Given the description of an element on the screen output the (x, y) to click on. 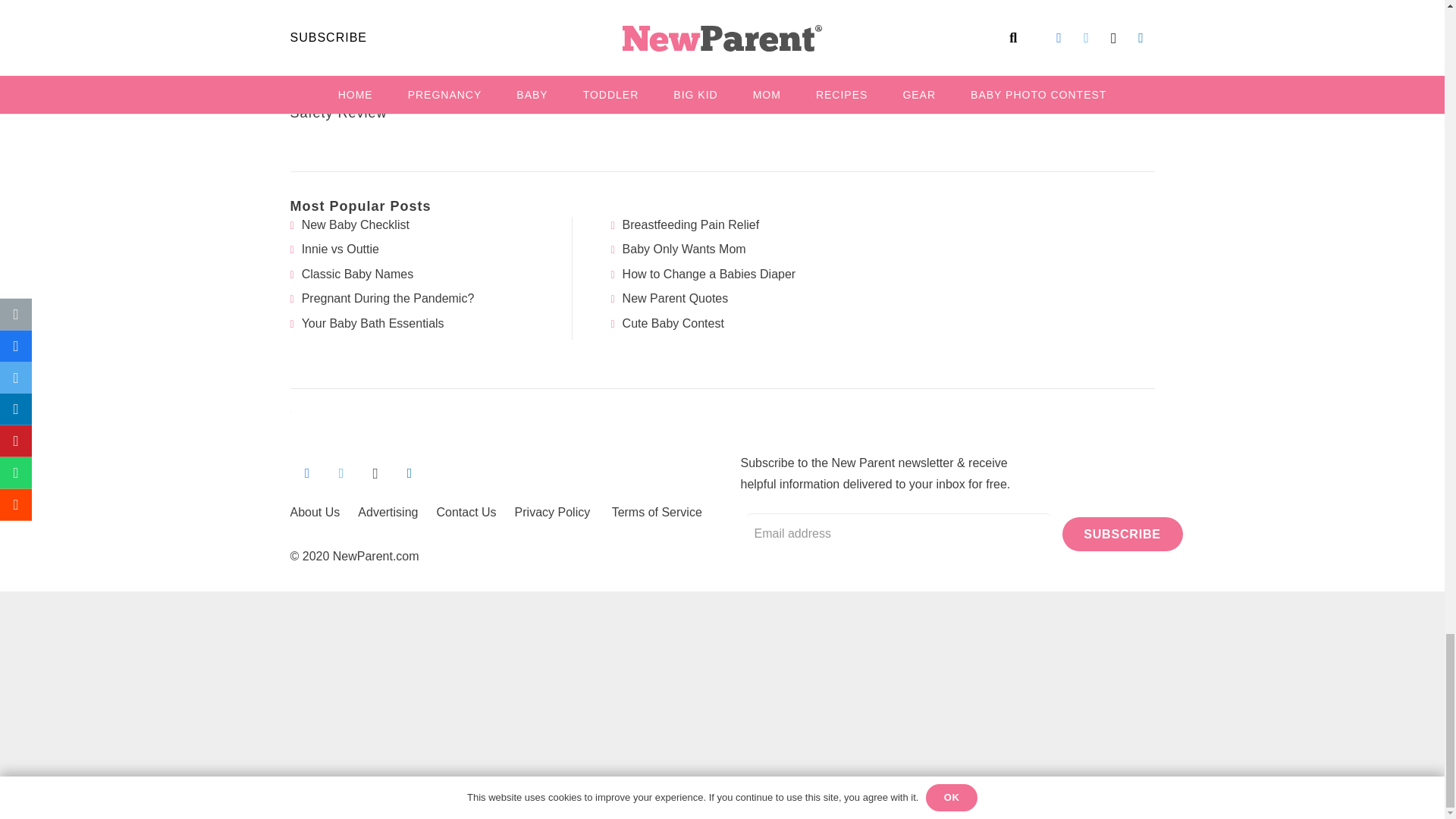
Subscribe (1121, 533)
